Given the description of an element on the screen output the (x, y) to click on. 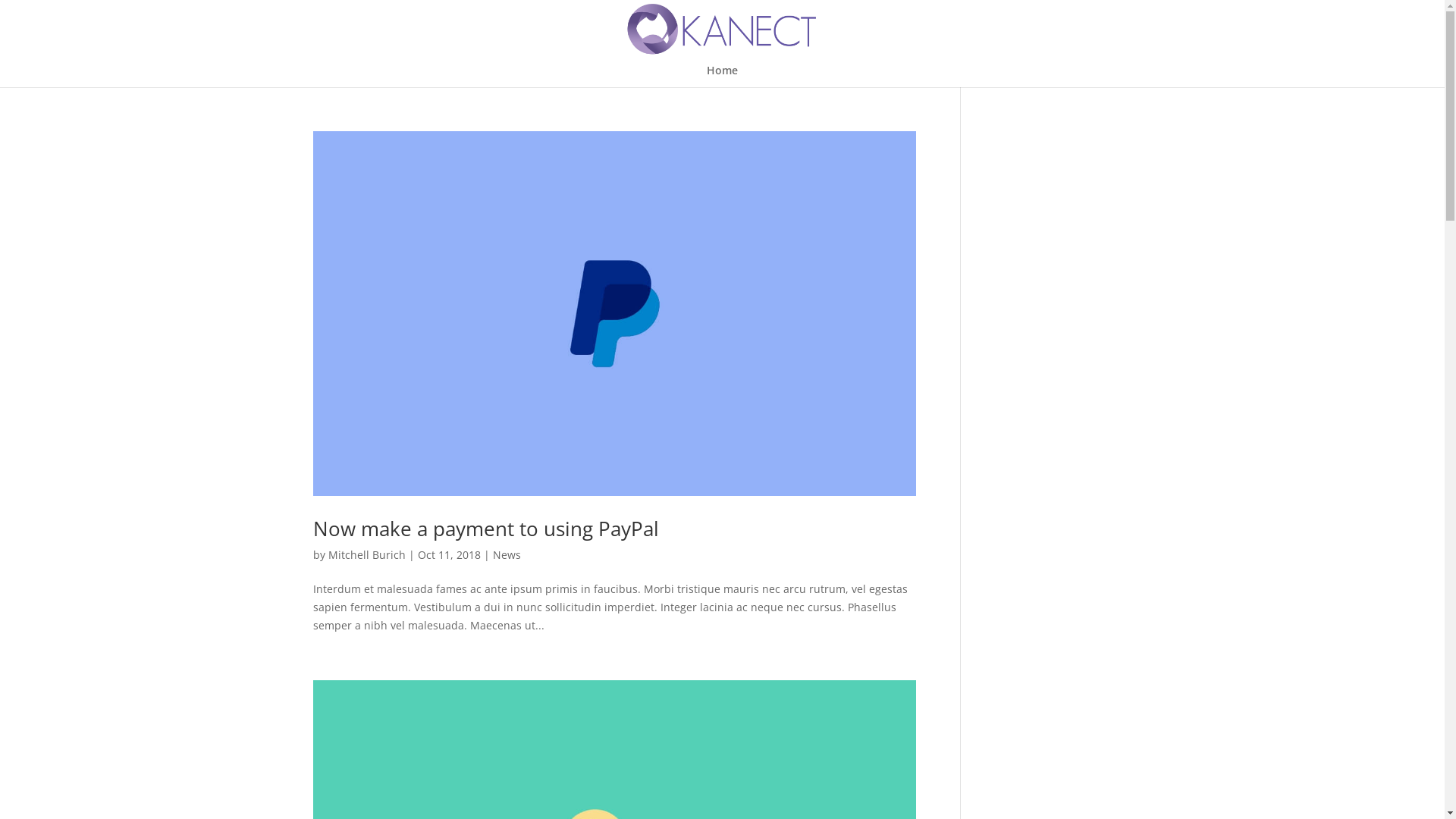
Home Element type: text (721, 76)
News Element type: text (506, 554)
Mitchell Burich Element type: text (365, 554)
Now make a payment to using PayPal Element type: text (485, 528)
